Given the description of an element on the screen output the (x, y) to click on. 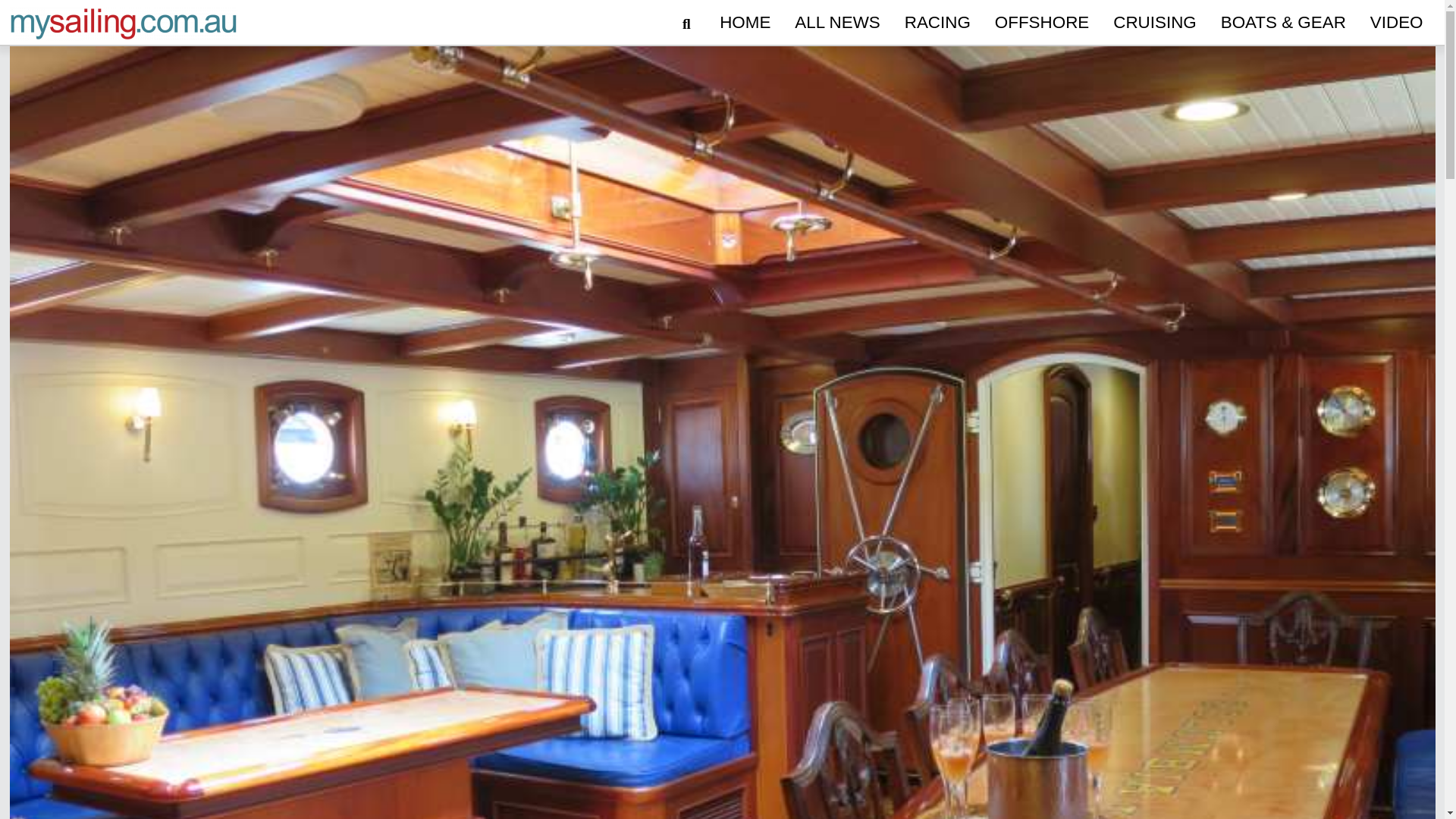
HOME (744, 22)
VIDEO (1396, 22)
Racing (937, 22)
Offshore (1041, 22)
OFFSHORE (1041, 22)
ALL NEWS (837, 22)
Home (744, 22)
All News (837, 22)
Video (1396, 22)
CRUISING (1154, 22)
Cruising (1154, 22)
RACING (937, 22)
